Given the description of an element on the screen output the (x, y) to click on. 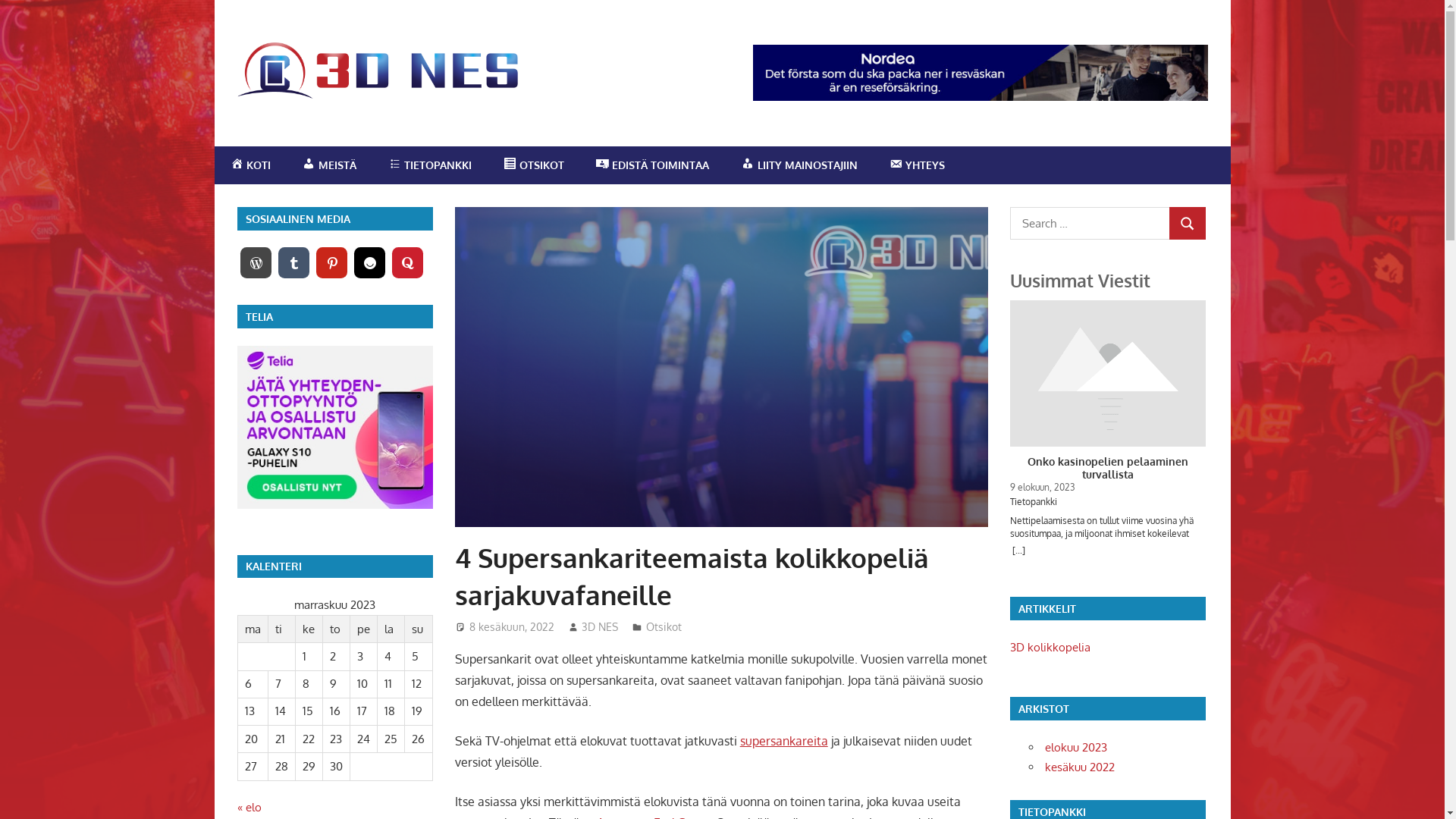
3D NES Element type: text (599, 626)
Otsikot Element type: text (663, 626)
wordpress Element type: text (255, 262)
LIITY MAINOSTAJIIN Element type: text (798, 165)
tumblr Element type: text (293, 262)
SEARCH Element type: text (1187, 223)
pinterest Element type: text (331, 262)
Logo Element type: hover (376, 70)
3D kolikkopelia Element type: text (1050, 647)
supersankareita Element type: text (784, 740)
ello Element type: text (369, 262)
TIETOPANKKI Element type: text (429, 165)
KOTI Element type: text (249, 165)
Search for: Element type: hover (1089, 223)
YHTEYS Element type: text (916, 165)
Onko kasinopelien pelaaminen turvallista Element type: text (1107, 467)
TIETOPANKKI Element type: text (1051, 811)
elokuu 2023 Element type: text (1075, 747)
quora Element type: text (407, 262)
OTSIKOT Element type: text (533, 165)
